Given the description of an element on the screen output the (x, y) to click on. 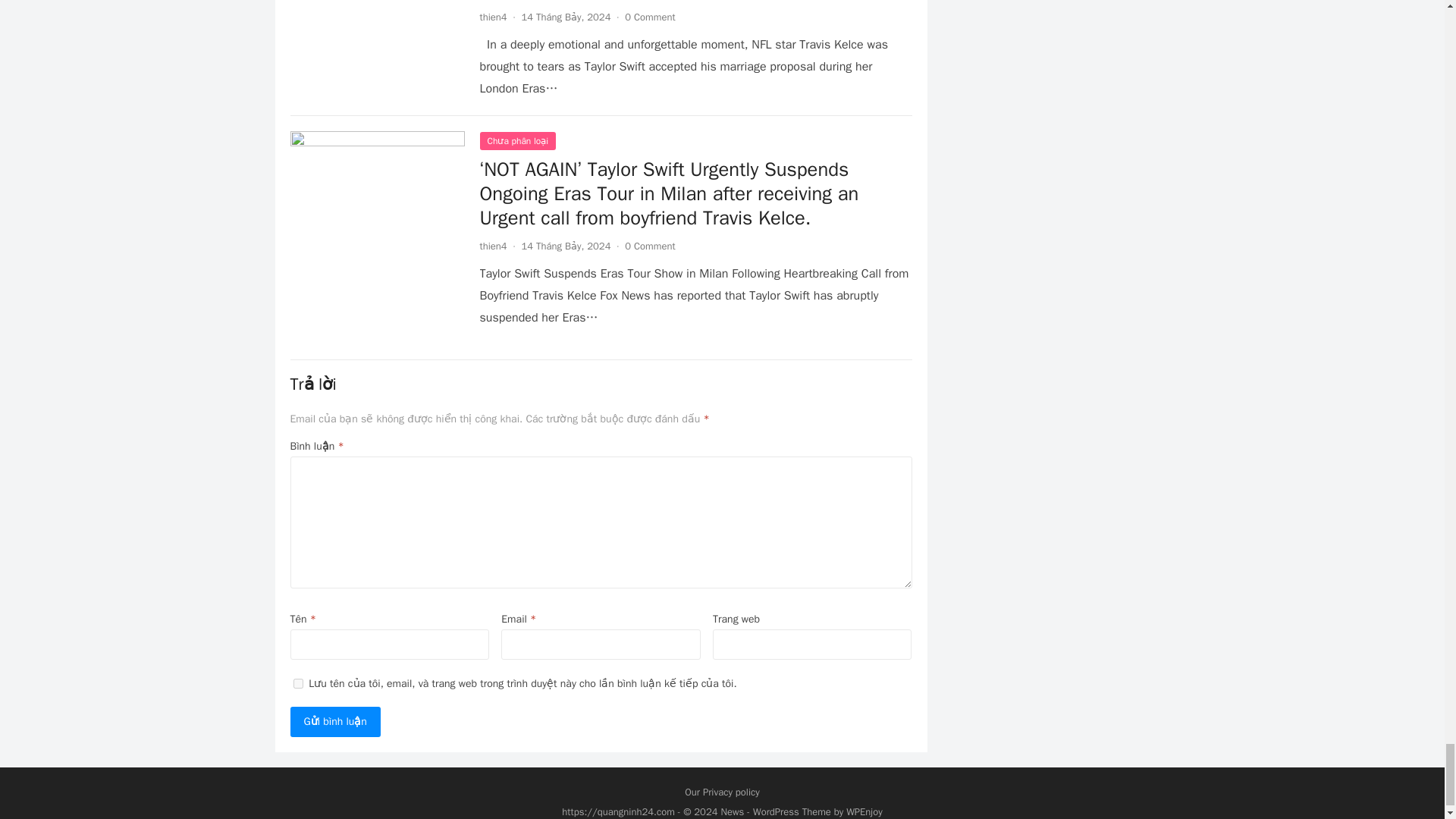
yes (297, 683)
